Given the description of an element on the screen output the (x, y) to click on. 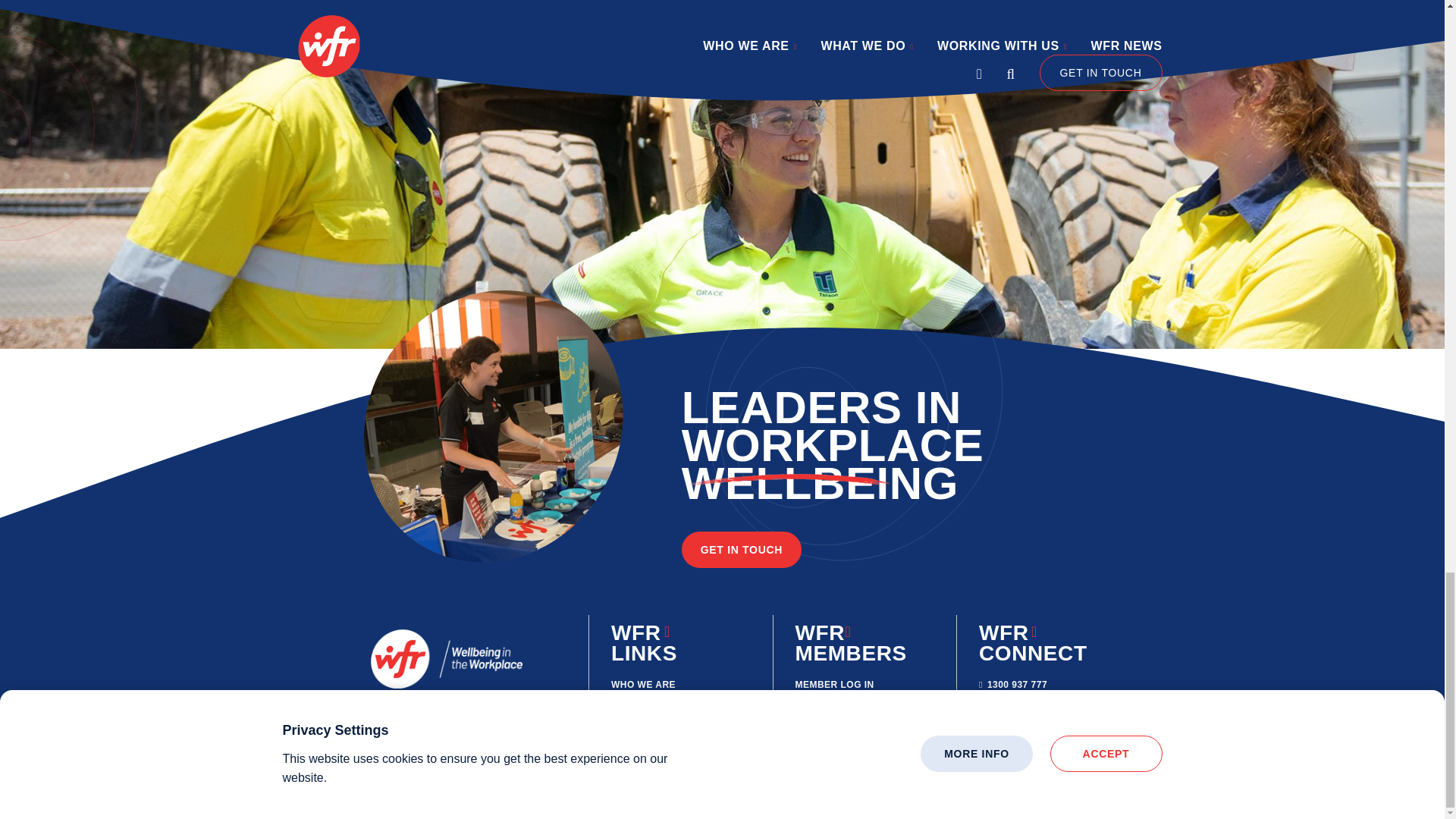
Privacy Policy (575, 797)
WORKING WITH US (657, 731)
MEMBER REGISTRATIONS (845, 715)
MEMBER LOG IN (833, 685)
WHAT WE DO (643, 708)
1300 937 777 (1012, 685)
GET IN TOUCH (741, 549)
WFR NEWS (821, 747)
WHO WE ARE (643, 685)
EMAIL US (1005, 708)
